Given the description of an element on the screen output the (x, y) to click on. 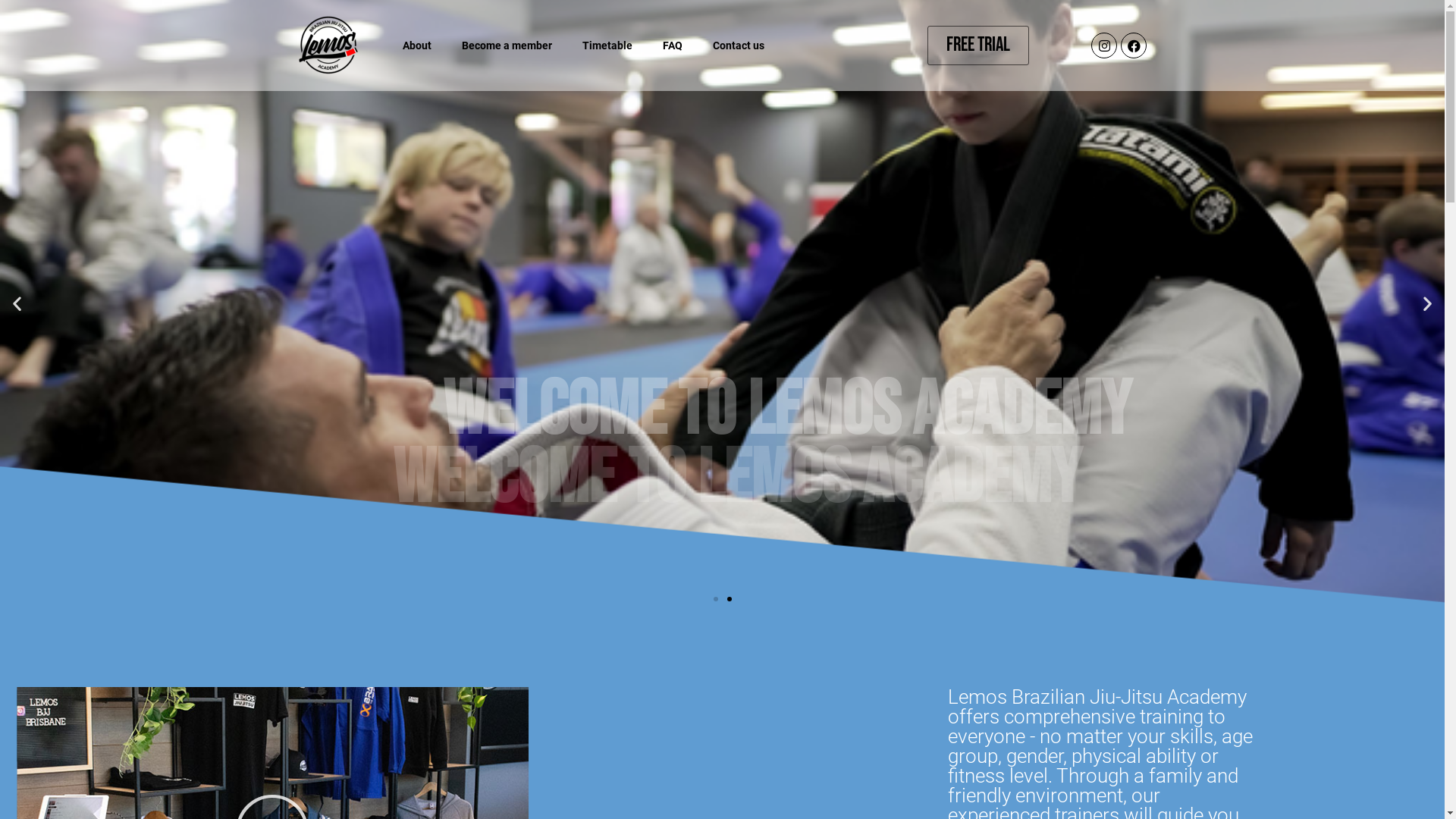
Contact us Element type: text (738, 45)
FAQ Element type: text (672, 45)
Timetable Element type: text (607, 45)
Become a member Element type: text (506, 45)
About Element type: text (416, 45)
Free Trial Element type: text (978, 45)
